Given the description of an element on the screen output the (x, y) to click on. 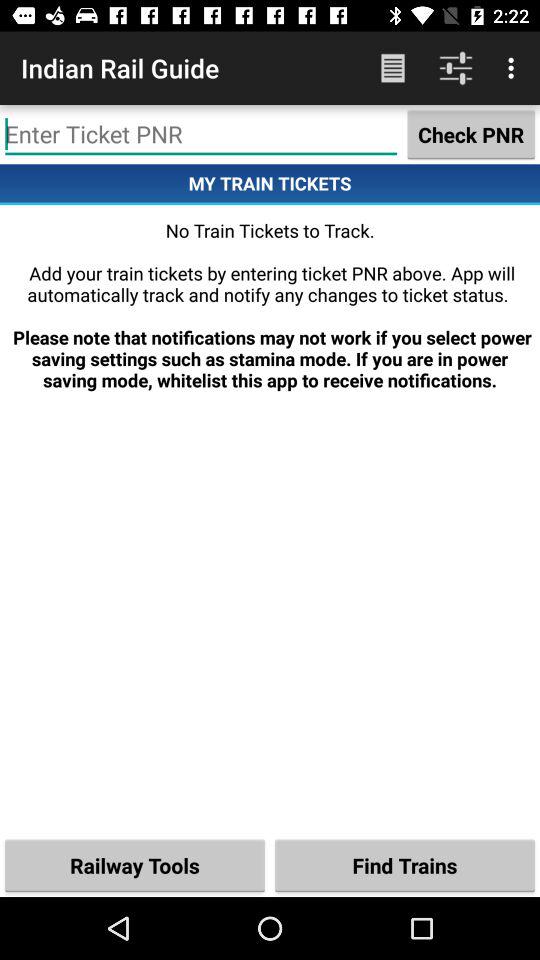
turn on find trains (405, 864)
